Given the description of an element on the screen output the (x, y) to click on. 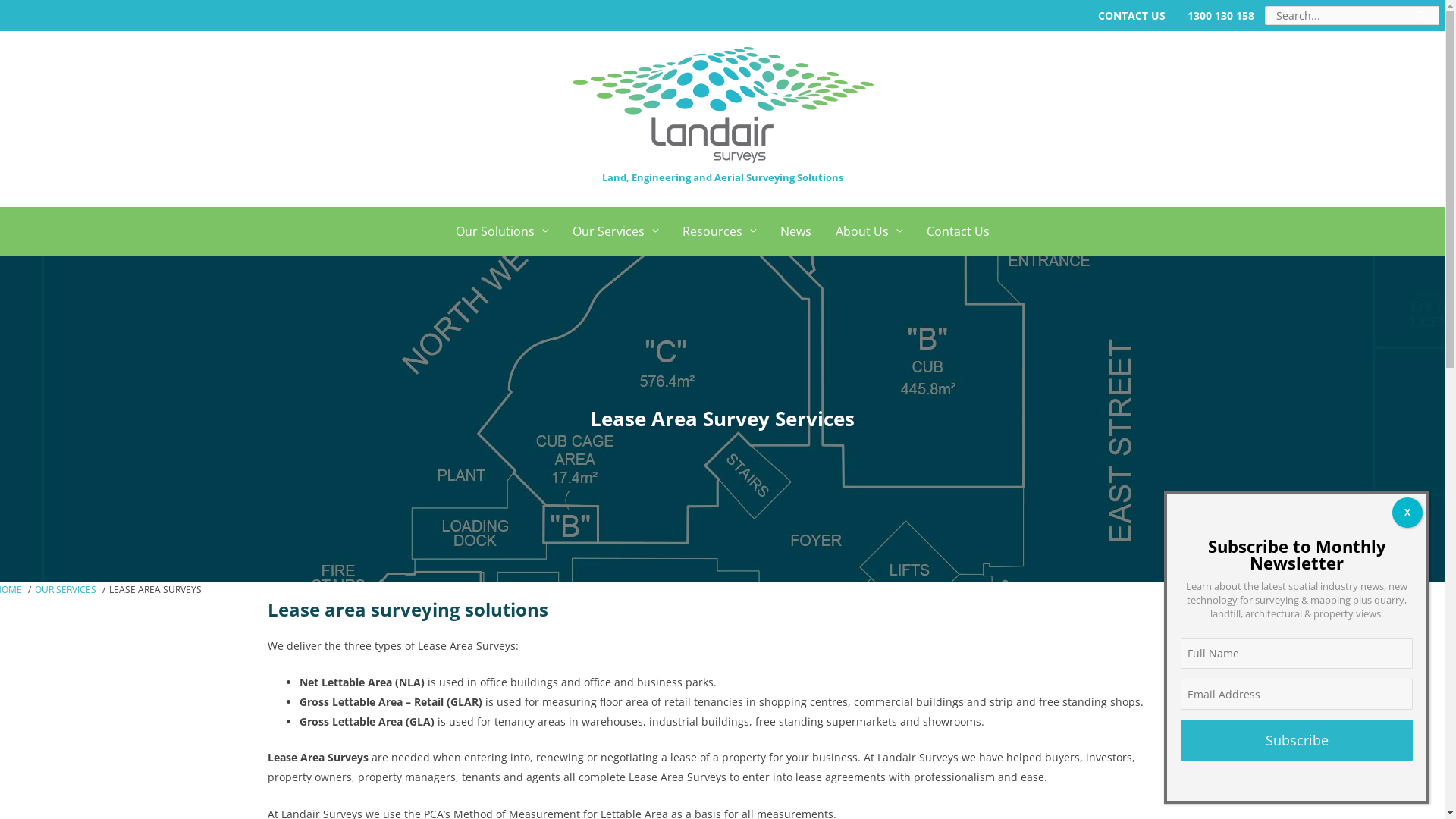
Our Services Element type: text (614, 231)
Our Solutions Element type: text (500, 231)
Resources Element type: text (719, 231)
Search Element type: text (1422, 20)
Contact Us Element type: text (957, 231)
Subscribe Element type: text (1296, 740)
CONTACT US Element type: text (1141, 15)
About Us Element type: text (868, 231)
X Element type: text (1407, 512)
News Element type: text (794, 231)
1300 130 158 Element type: text (1220, 15)
OUR SERVICES Element type: text (65, 589)
